Given the description of an element on the screen output the (x, y) to click on. 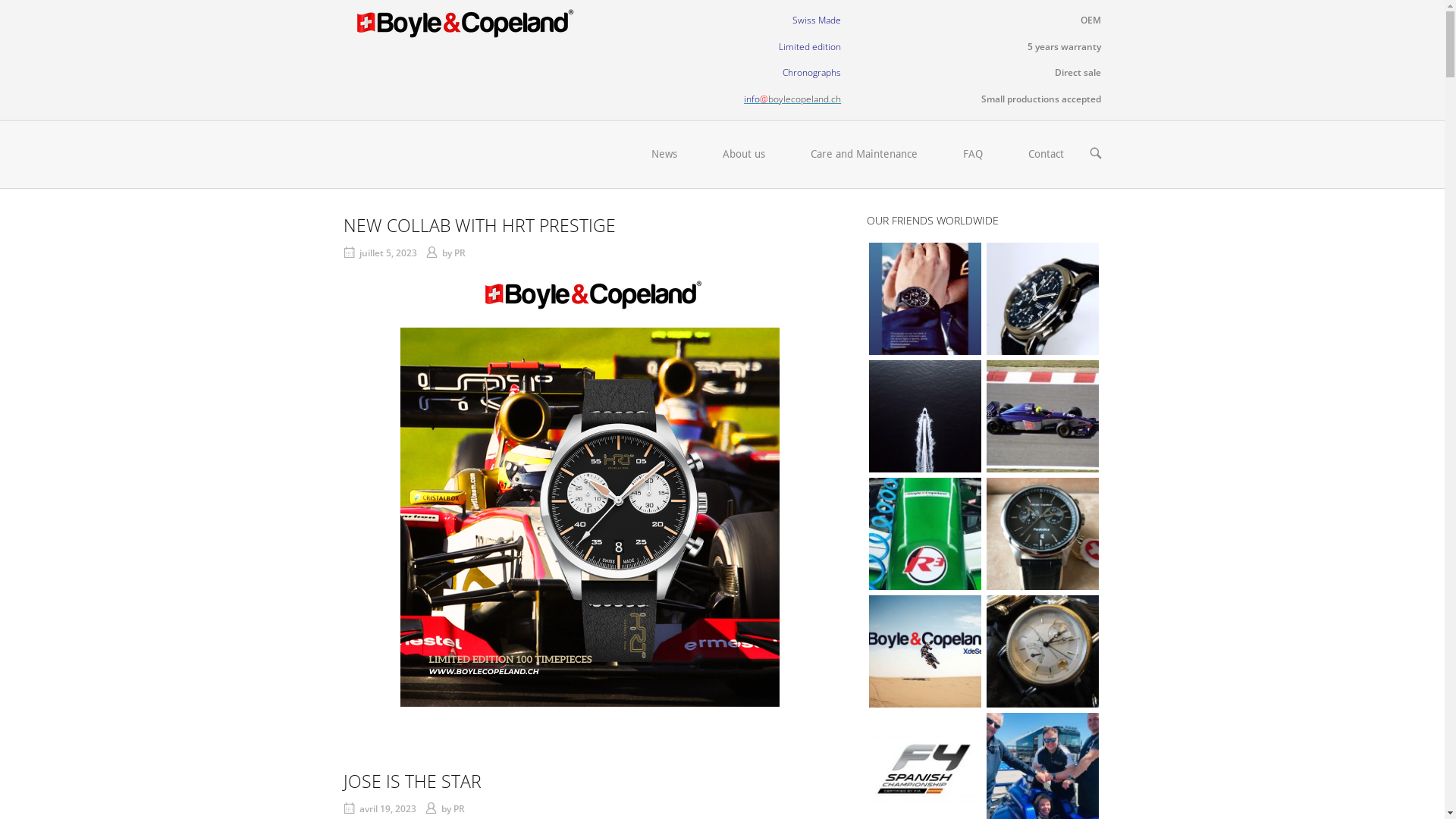
Skip to content Element type: text (0, 0)
juillet 5, 2023 Element type: text (388, 252)
JOSE IS THE STAR Element type: text (411, 780)
FAQ Element type: text (972, 154)
avril 19, 2023 Element type: text (387, 808)
Contact Element type: text (1045, 154)
PR Element type: text (458, 808)
info@boylecopeland.ch Element type: text (791, 98)
OPEN SEARCH BAR Element type: text (1094, 154)
PR Element type: text (458, 252)
About us Element type: text (743, 154)
News Element type: text (663, 154)
Care and Maintenance Element type: text (863, 154)
NEW COLLAB WITH HRT PRESTIGE Element type: text (478, 225)
